Given the description of an element on the screen output the (x, y) to click on. 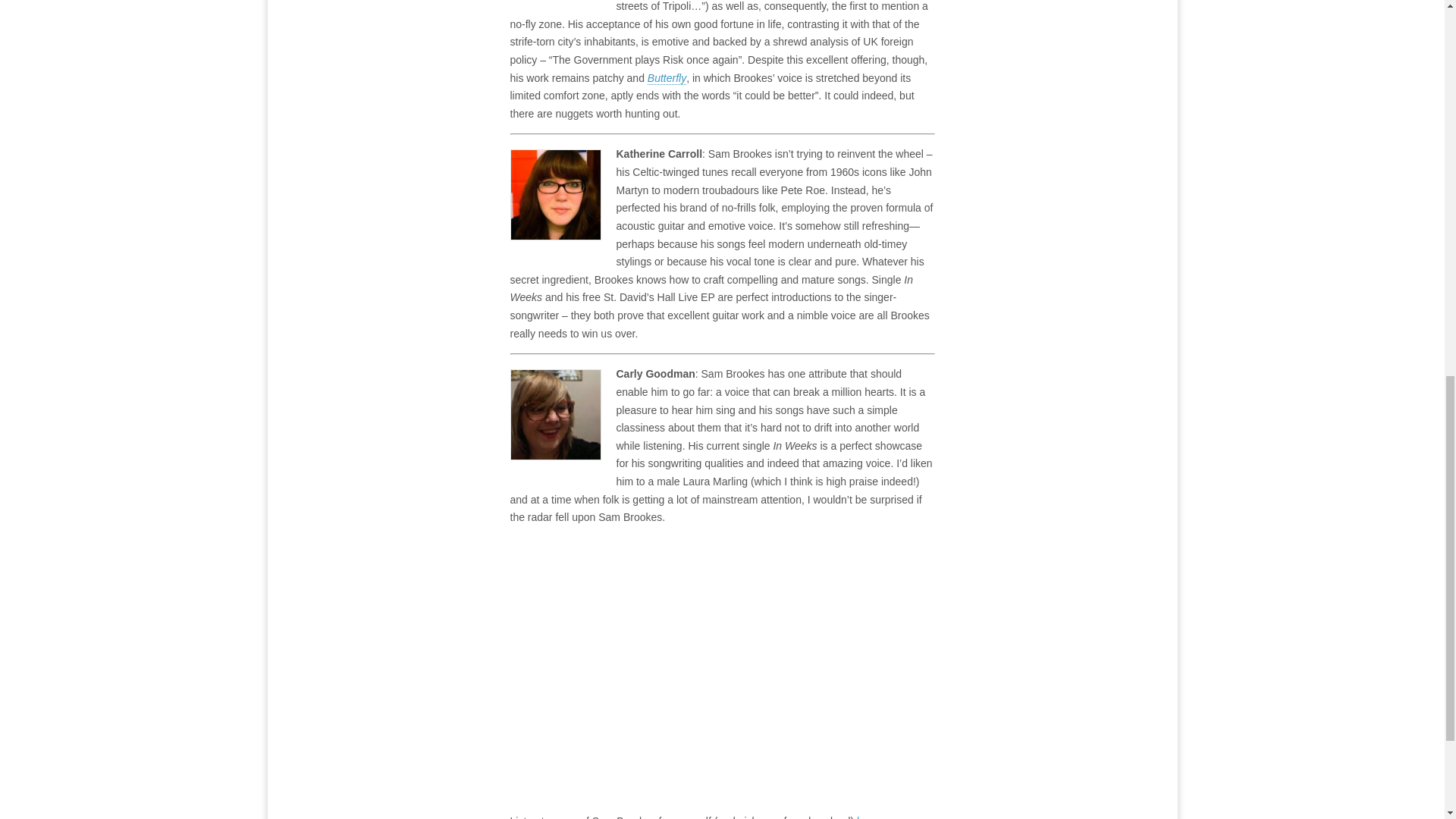
Butterfly (666, 78)
here (867, 816)
Katherine (554, 194)
carly (554, 414)
